Given the description of an element on the screen output the (x, y) to click on. 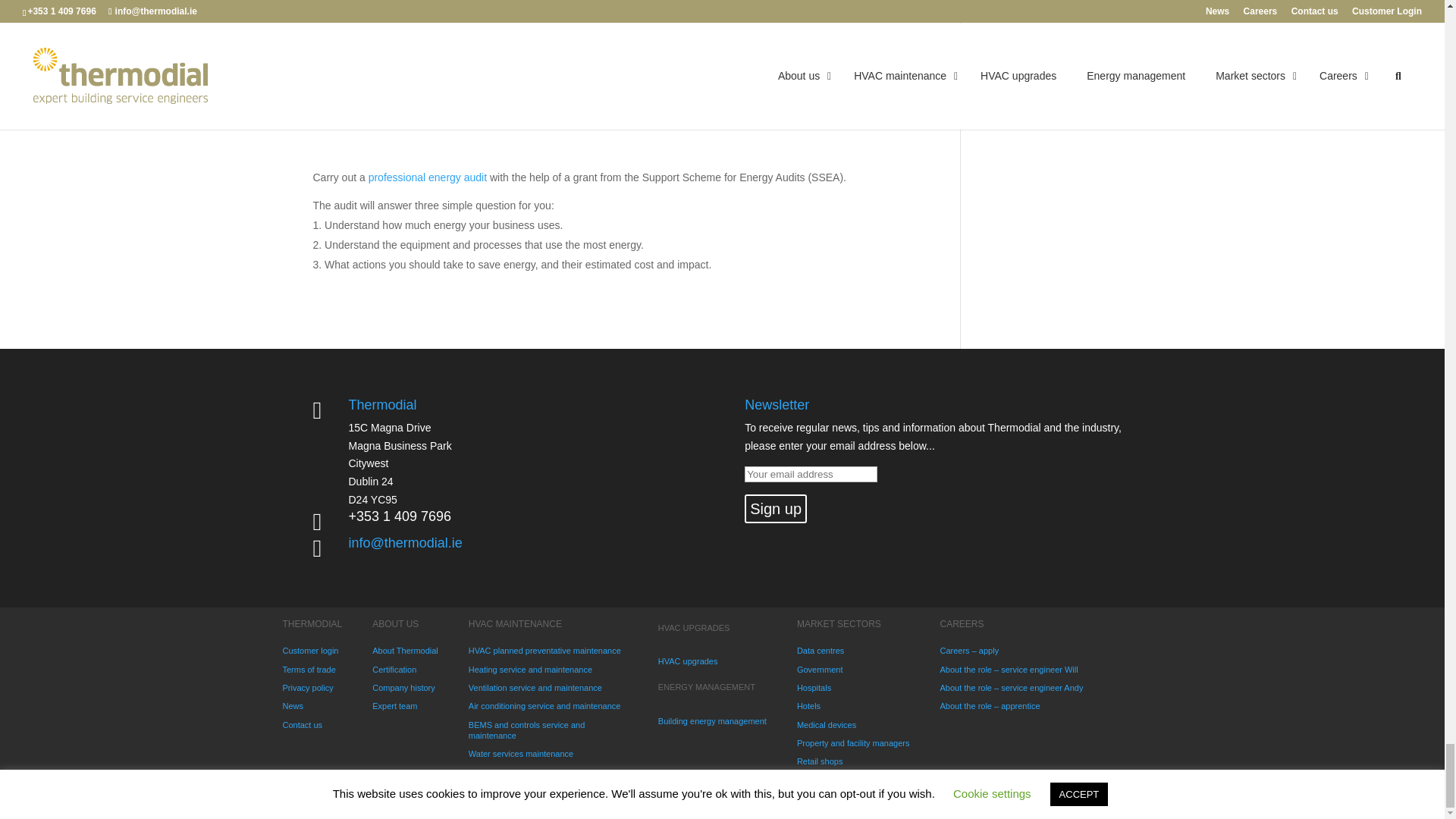
Sign up (775, 508)
